Given the description of an element on the screen output the (x, y) to click on. 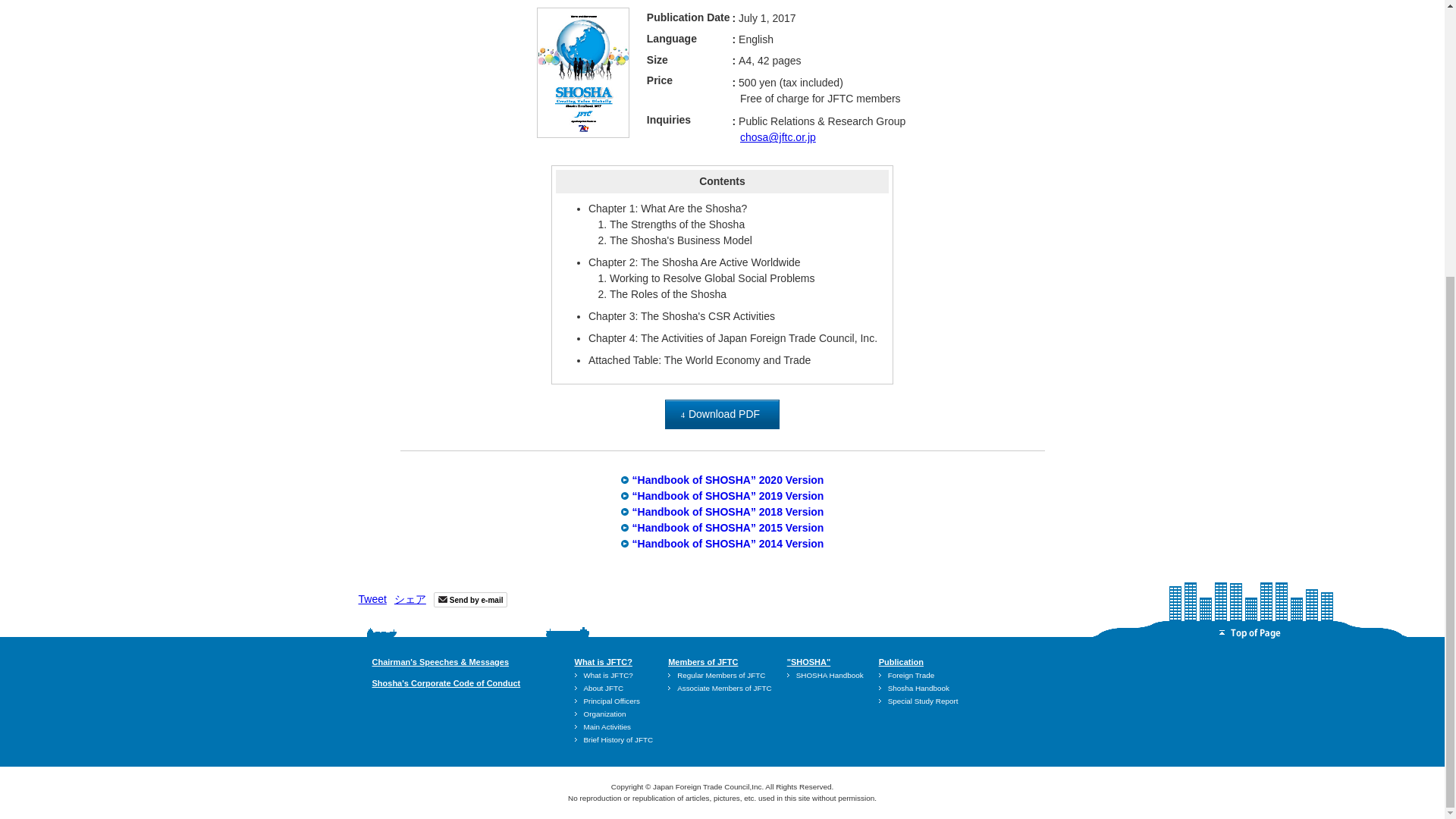
Tweet (371, 598)
Download PDF (721, 414)
Send by e-mail (470, 599)
